Given the description of an element on the screen output the (x, y) to click on. 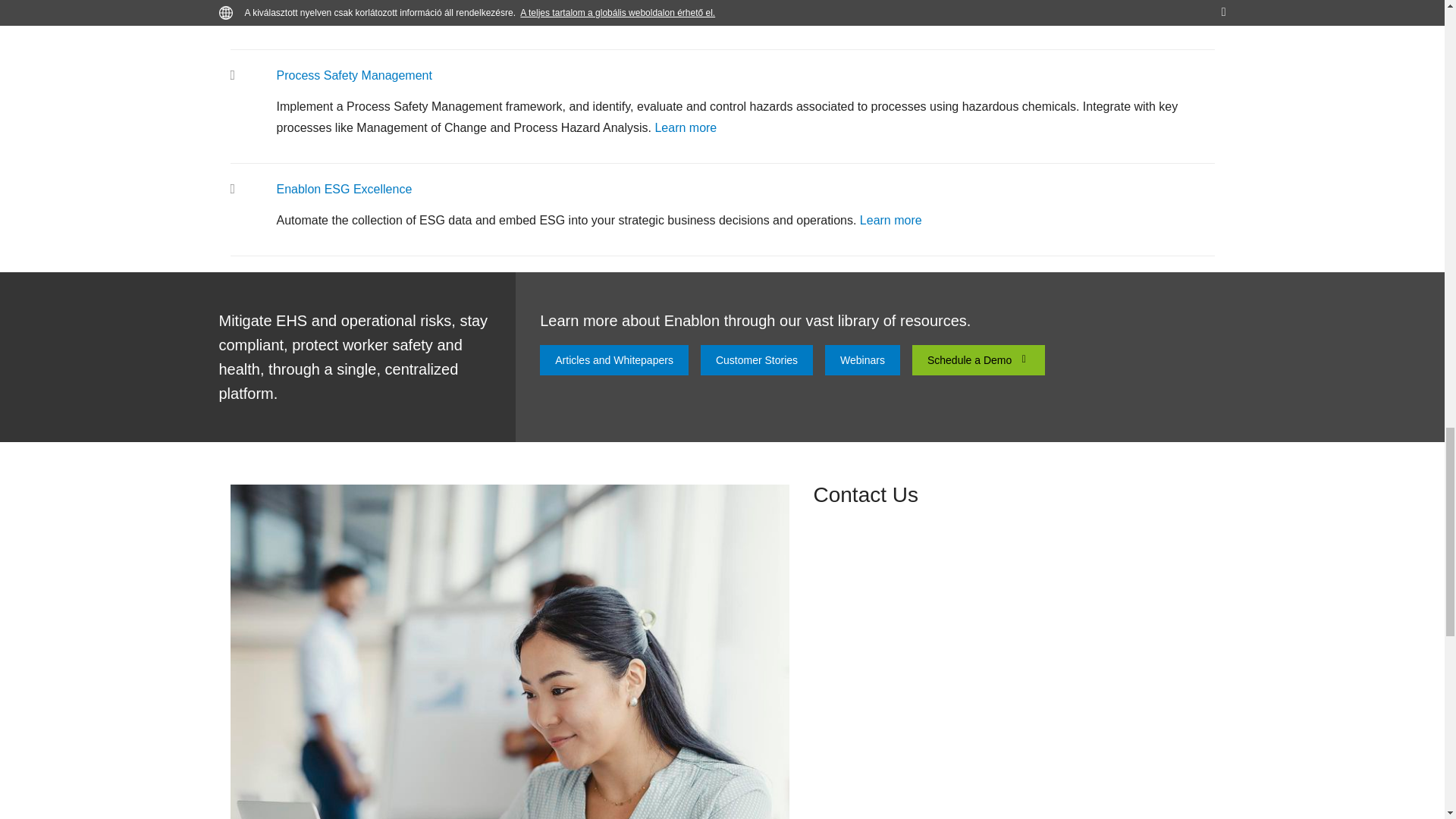
wk-icon-arrow-right (1023, 358)
